Given the description of an element on the screen output the (x, y) to click on. 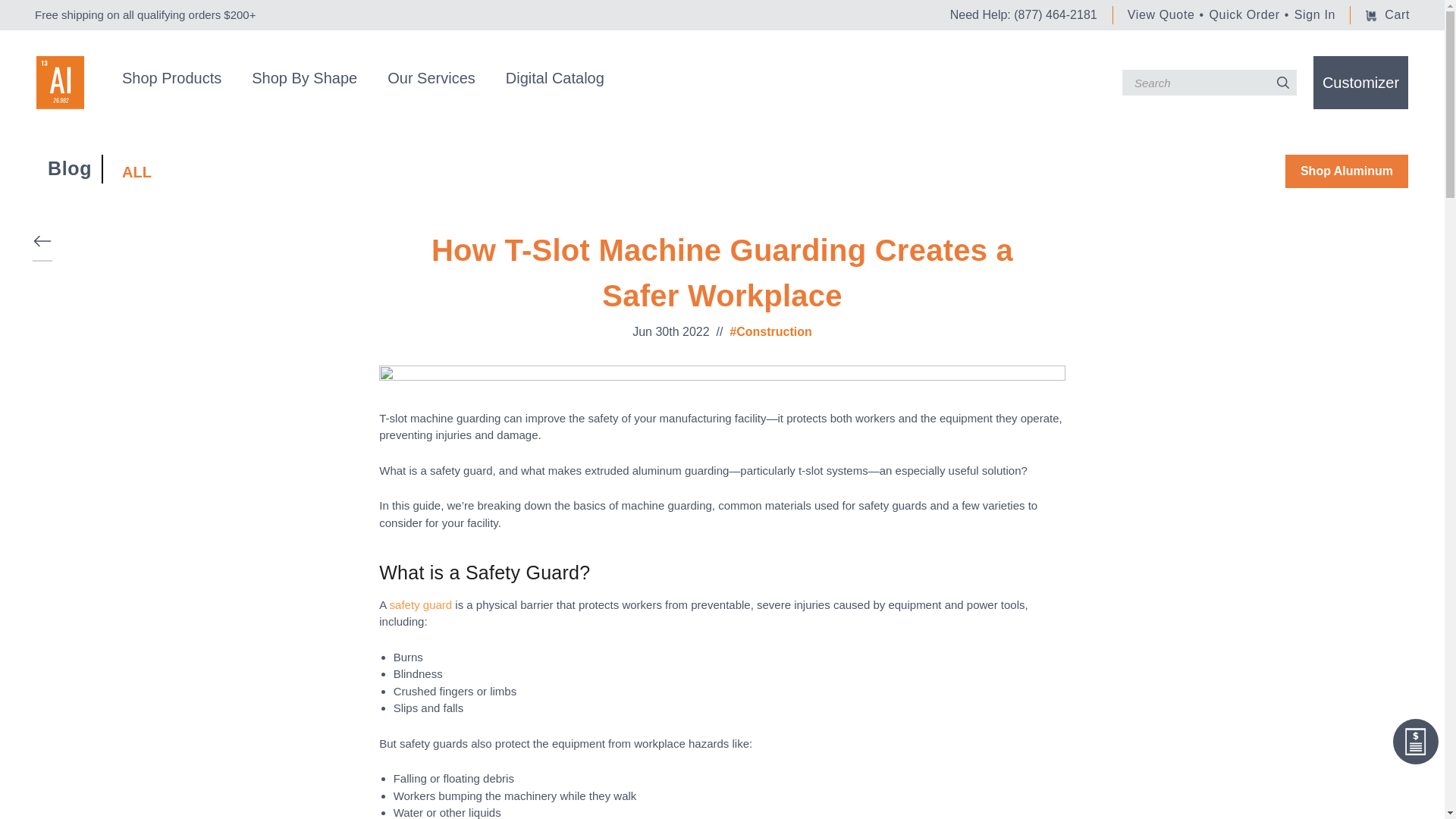
Sign In (1314, 14)
Shop Products (170, 80)
View Quote (1160, 14)
Quick Order (1244, 14)
Orange Aluminum Sandbox (60, 82)
Cart (1387, 15)
